Given the description of an element on the screen output the (x, y) to click on. 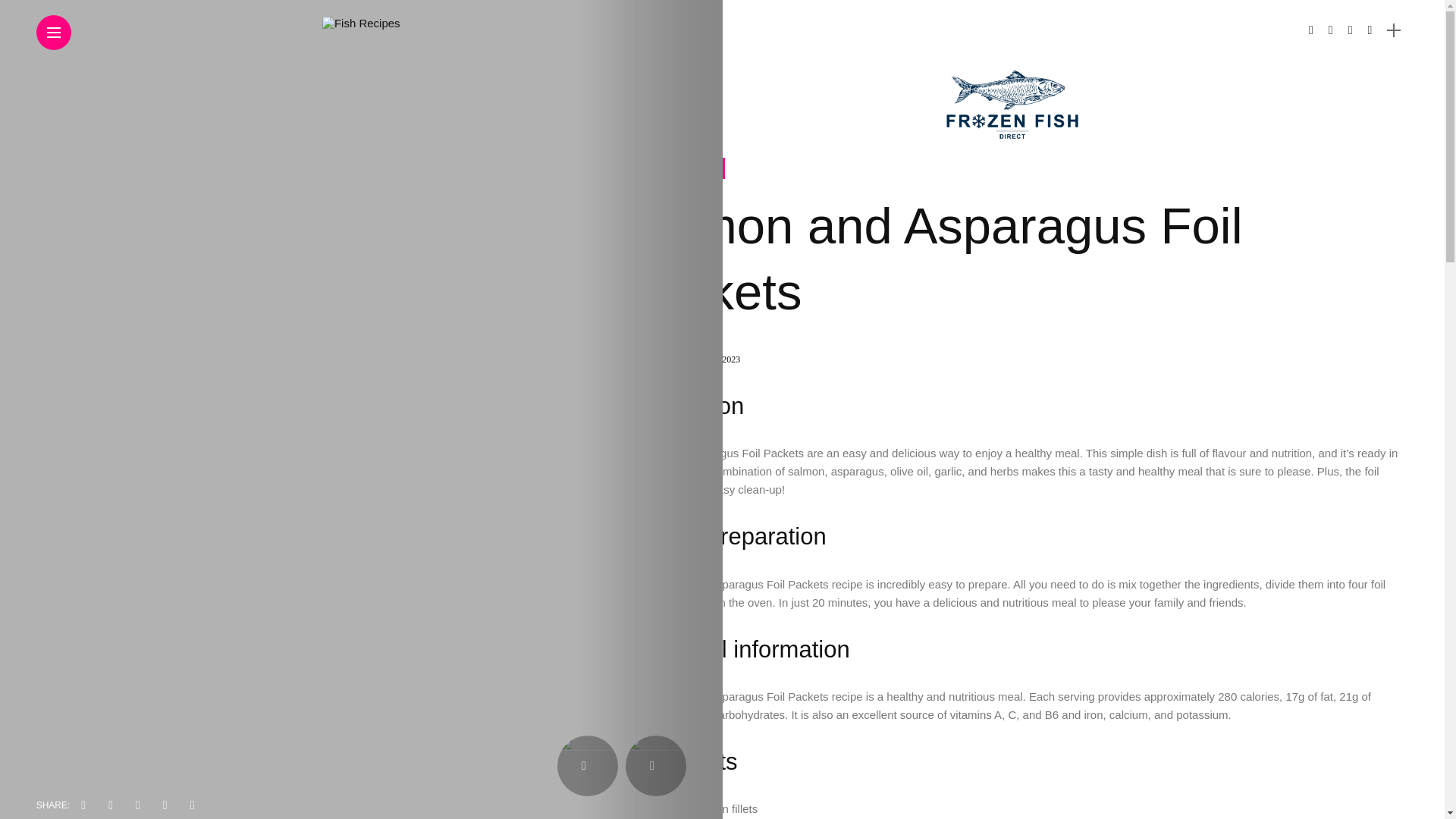
Posts by Julian (663, 358)
